Given the description of an element on the screen output the (x, y) to click on. 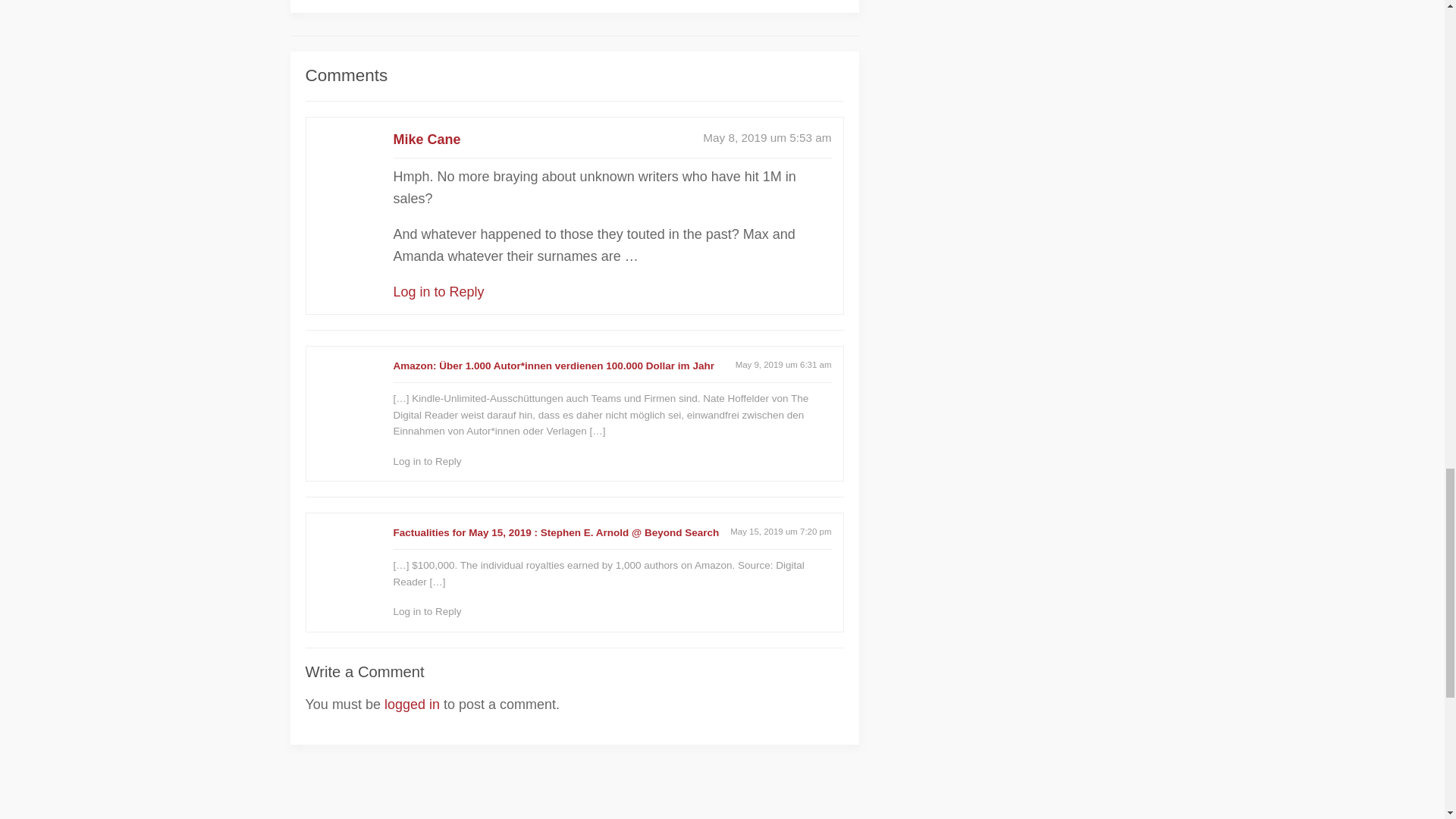
logged in (411, 703)
Log in to Reply (438, 291)
Log in to Reply (427, 611)
Log in to Reply (427, 460)
